Given the description of an element on the screen output the (x, y) to click on. 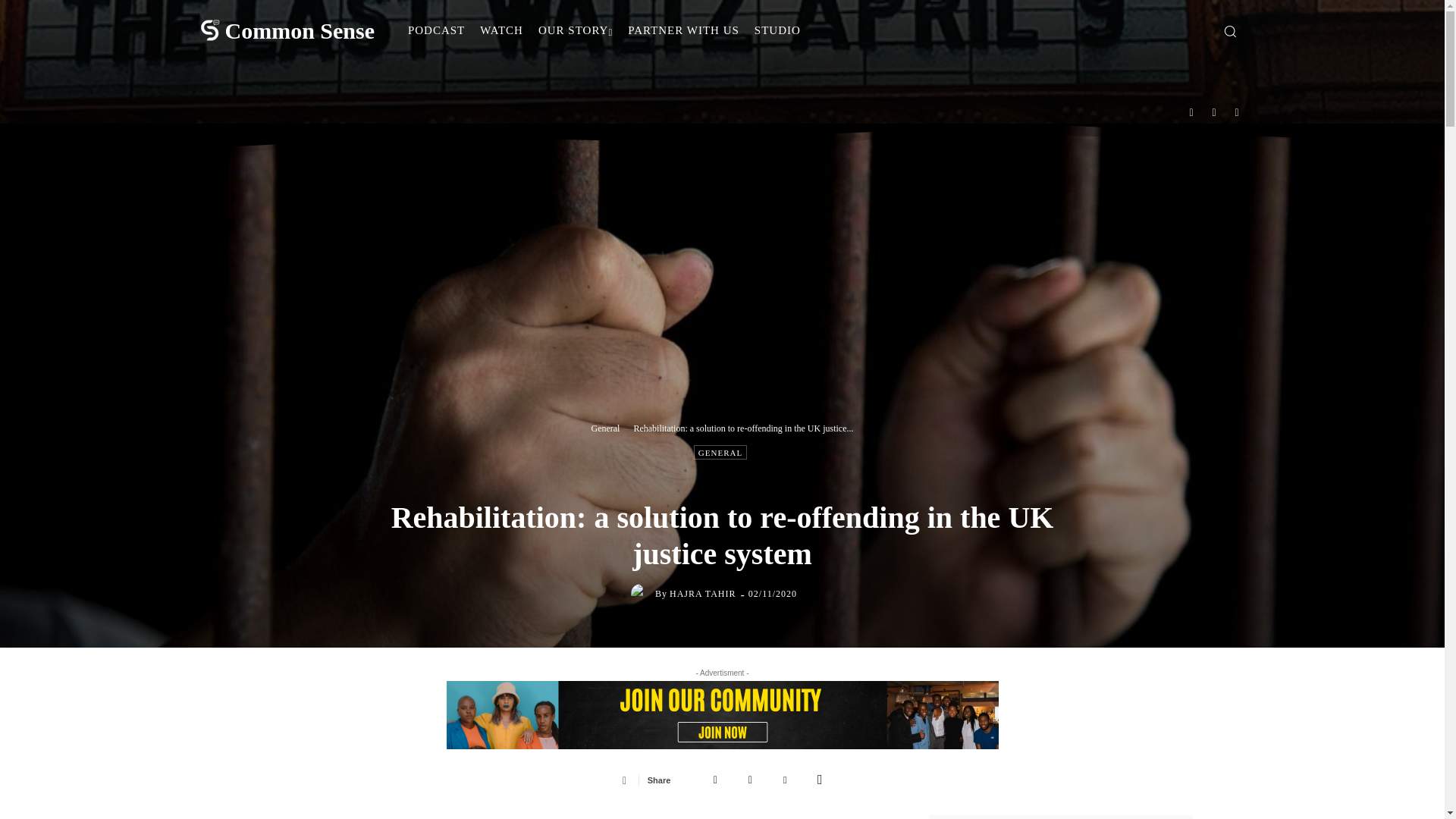
General (605, 428)
Twitter (750, 779)
PODCAST (435, 30)
Facebook (1191, 111)
WhatsApp (819, 779)
Twitter (1237, 111)
Pinterest (784, 779)
Instagram (1214, 111)
GENERAL (720, 452)
HAJRA TAHIR (702, 593)
Hajra Tahir (642, 593)
WATCH (501, 30)
View all posts in General (605, 428)
Common Sense (283, 30)
Facebook (715, 779)
